Given the description of an element on the screen output the (x, y) to click on. 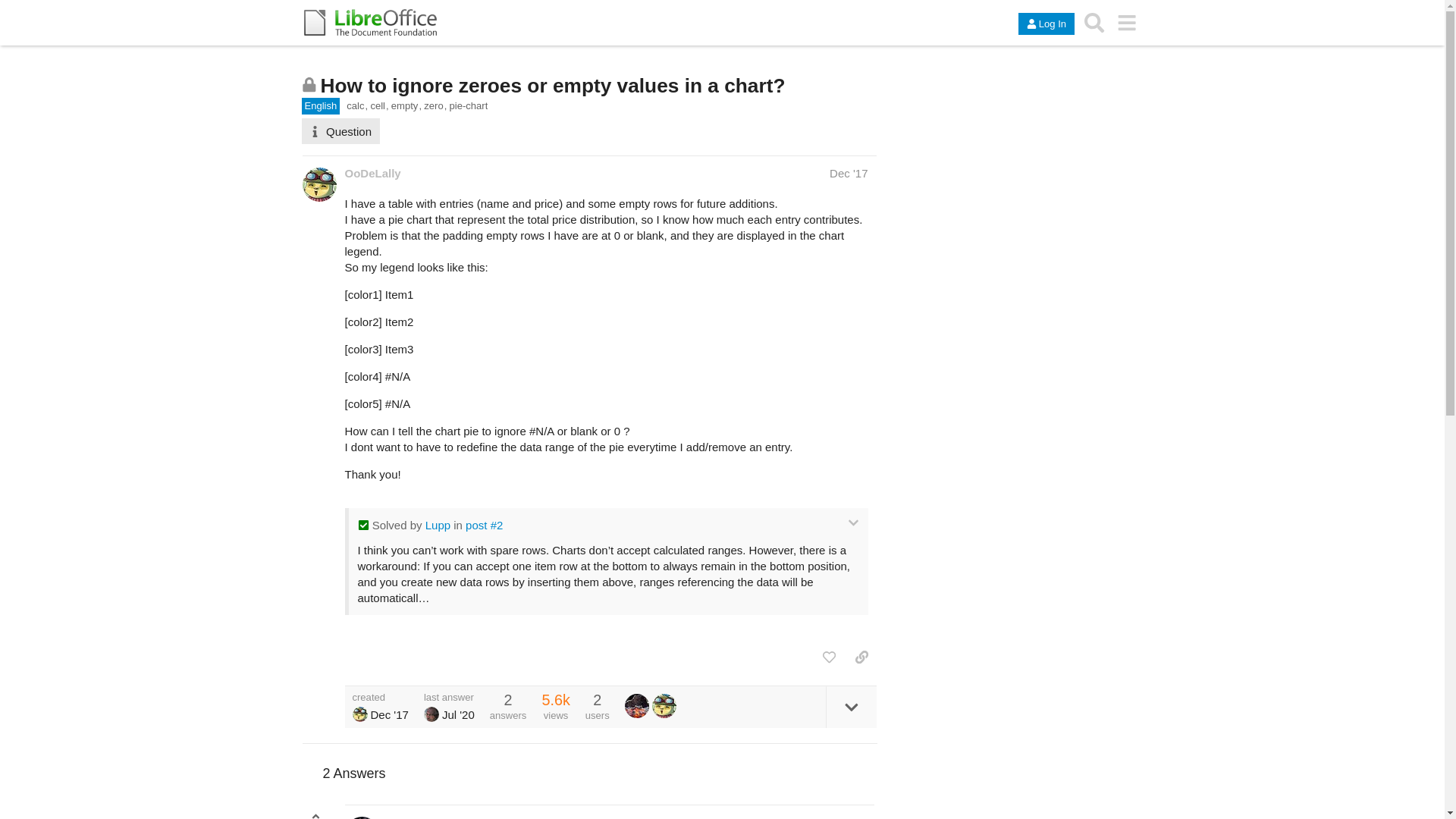
Jul 22, 2020 7:20 pm (458, 714)
like this post (829, 657)
Dec 8, 2017 9:04 am (388, 714)
share a link to this post (861, 657)
How to ignore zeroes or empty values in a chart? (552, 85)
Lupp (437, 524)
Dec '17 (848, 173)
OoDeLally (359, 713)
zero (434, 106)
This topic is closed; it no longer accepts new replies (309, 83)
Log In (1045, 24)
menu (1126, 22)
last answer (448, 696)
English (320, 105)
